Given the description of an element on the screen output the (x, y) to click on. 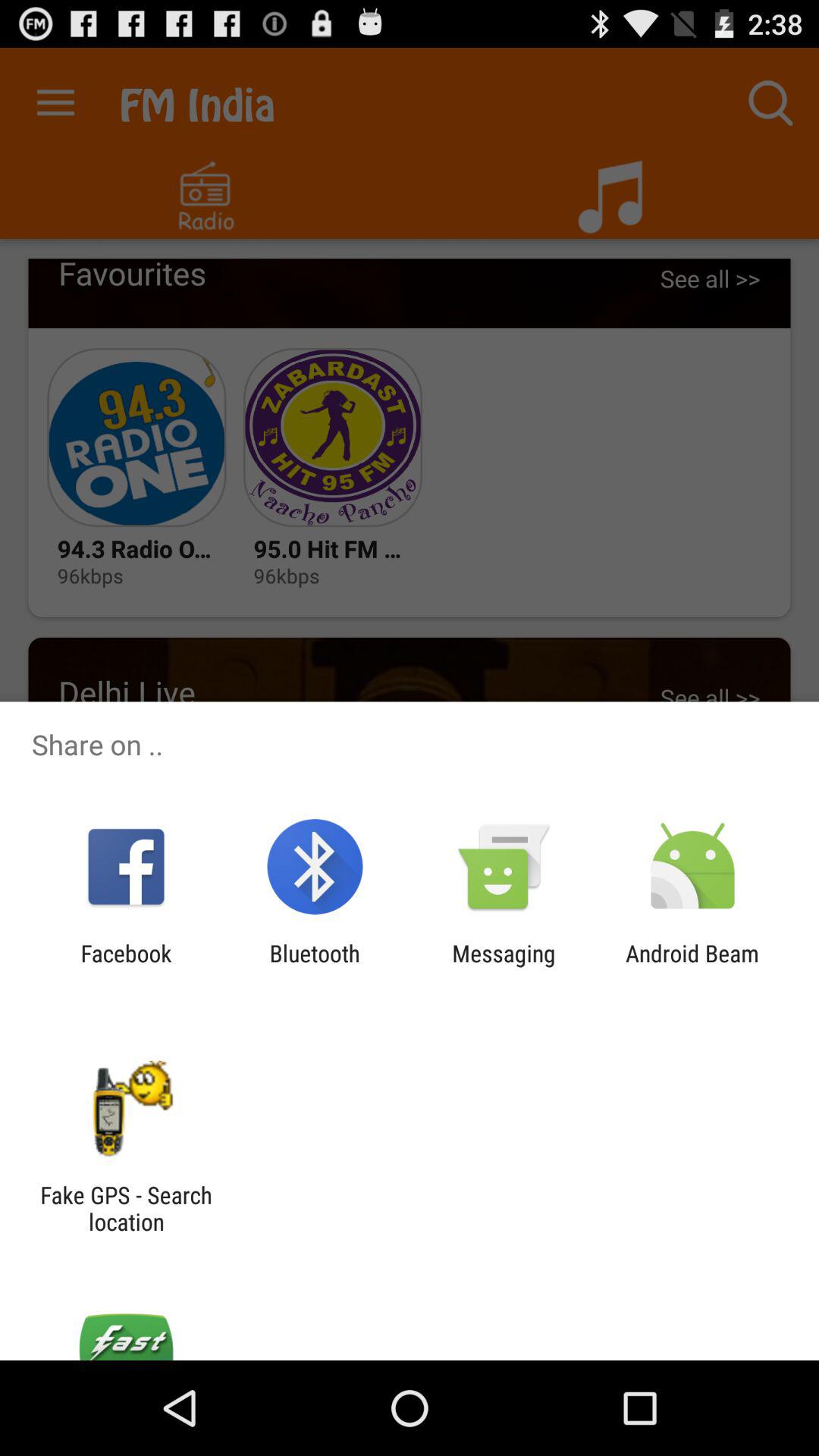
open fake gps search item (125, 1208)
